Given the description of an element on the screen output the (x, y) to click on. 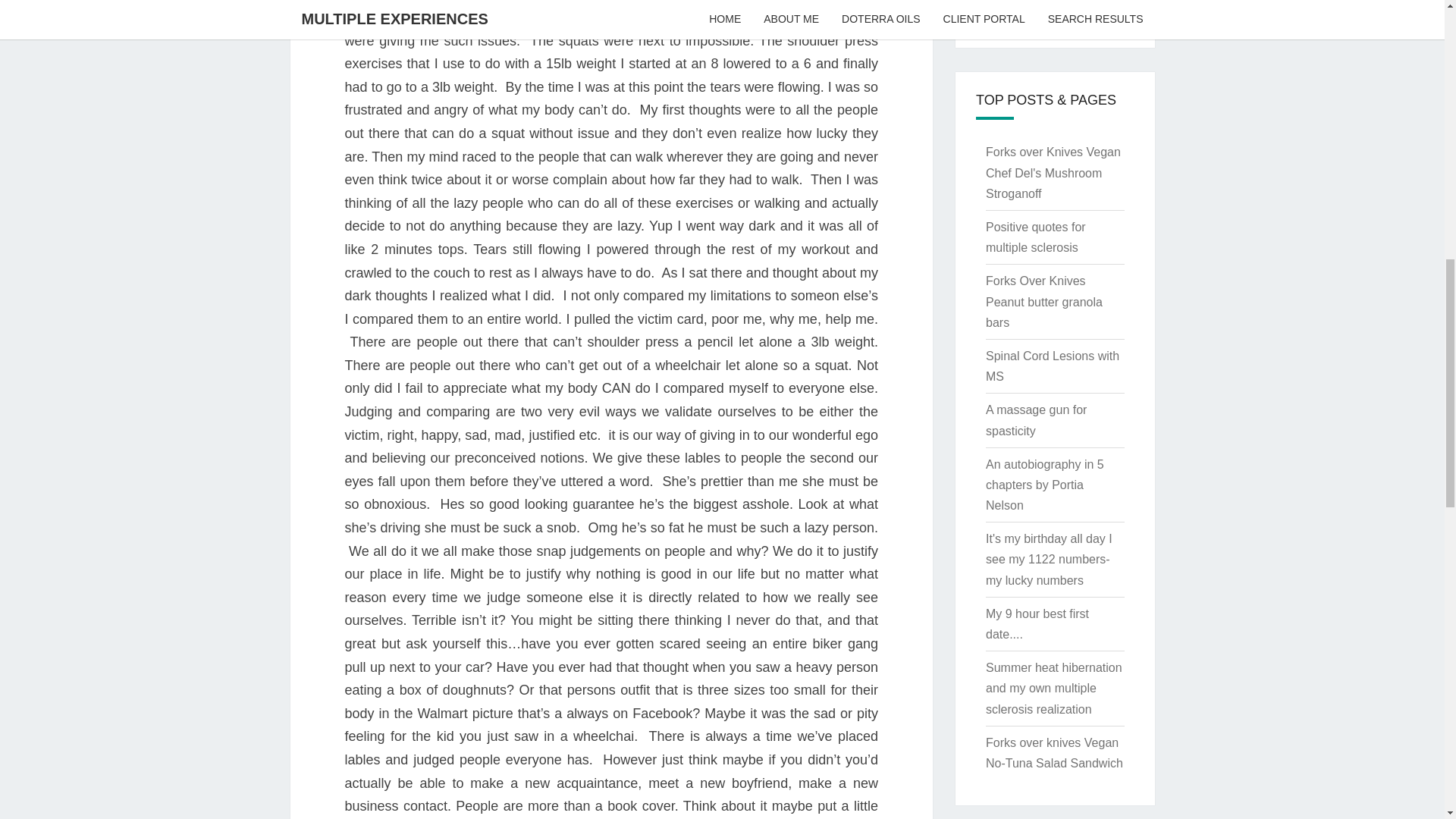
Spinal Cord Lesions with MS (1052, 366)
A massage gun for spasticity (1035, 419)
Forks over Knives Vegan Chef Del's Mushroom Stroganoff (1053, 172)
Forks Over Knives Peanut butter granola bars (1043, 301)
An autobiography in 5 chapters by Portia Nelson (1044, 484)
My 9 hour best first date.... (1037, 623)
Positive quotes for multiple sclerosis (1035, 236)
Forks over knives Vegan No-Tuna Salad Sandwich (1053, 752)
